Given the description of an element on the screen output the (x, y) to click on. 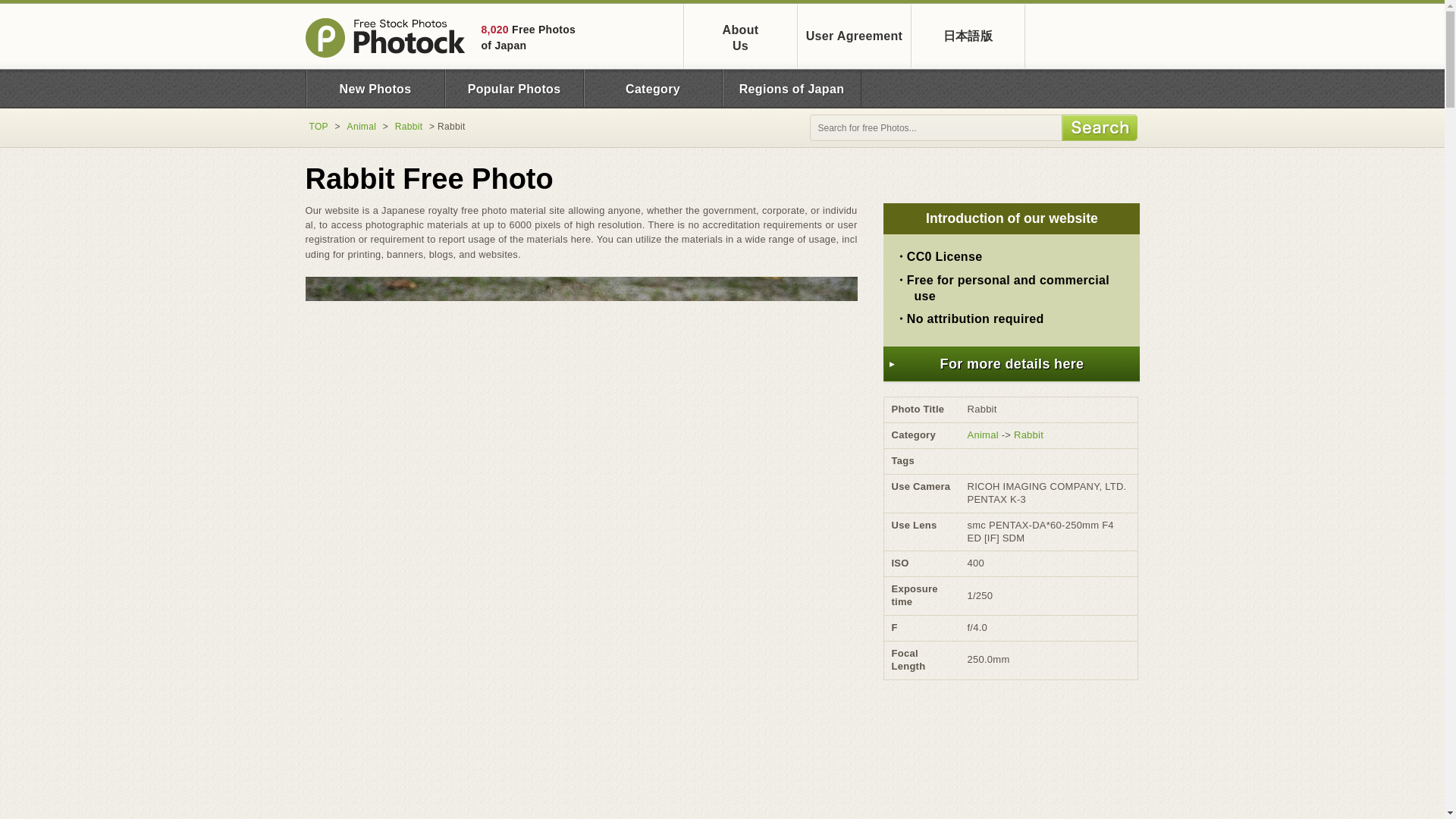
Photock (740, 35)
Rabbit (384, 37)
New Photos (408, 126)
Regions of Japan (375, 88)
User Agreement (791, 88)
Animal (854, 35)
TOP (361, 126)
Rabbit Free Photo (317, 126)
Category (513, 88)
